Given the description of an element on the screen output the (x, y) to click on. 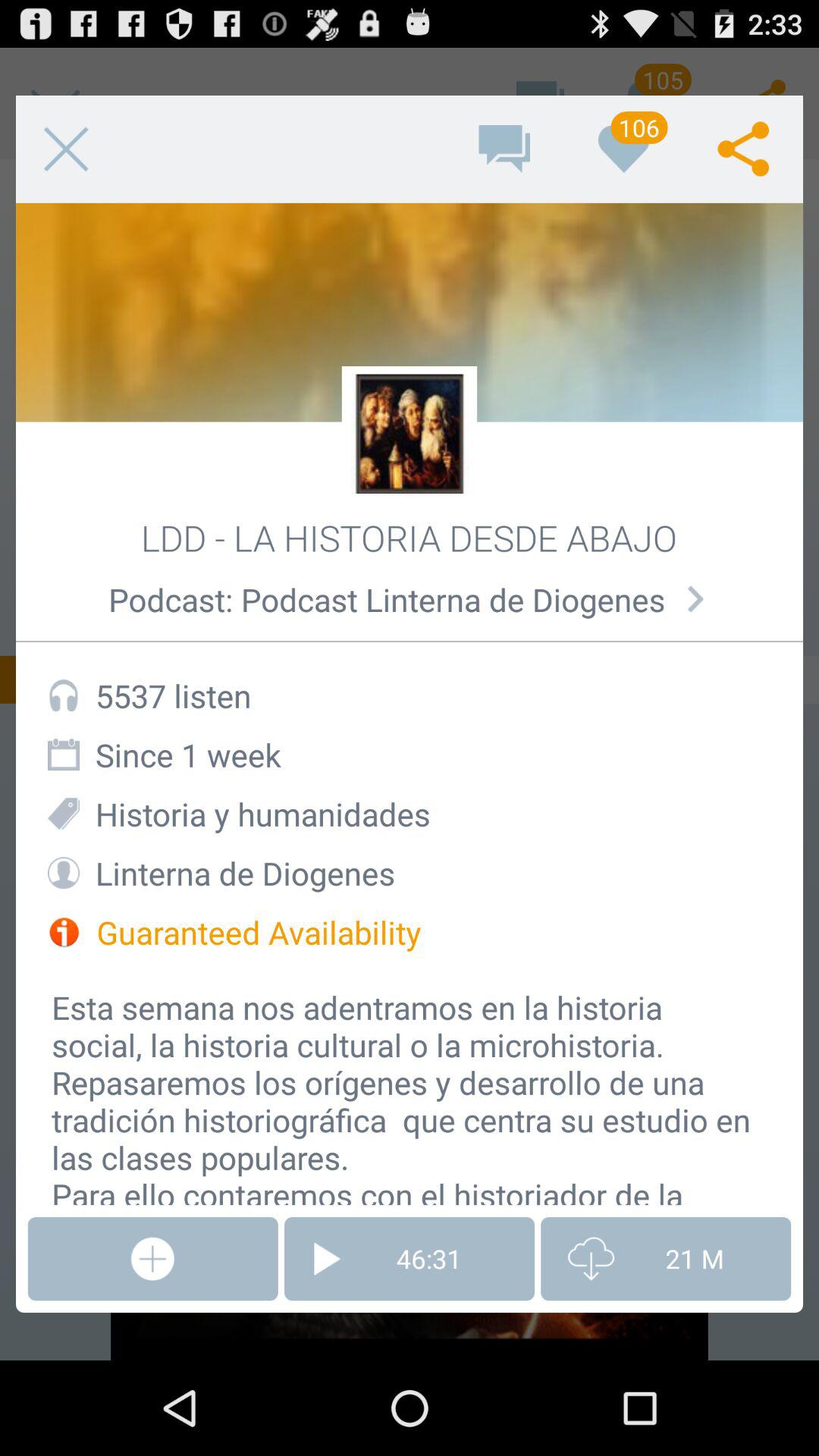
open item at the bottom right corner (665, 1258)
